Given the description of an element on the screen output the (x, y) to click on. 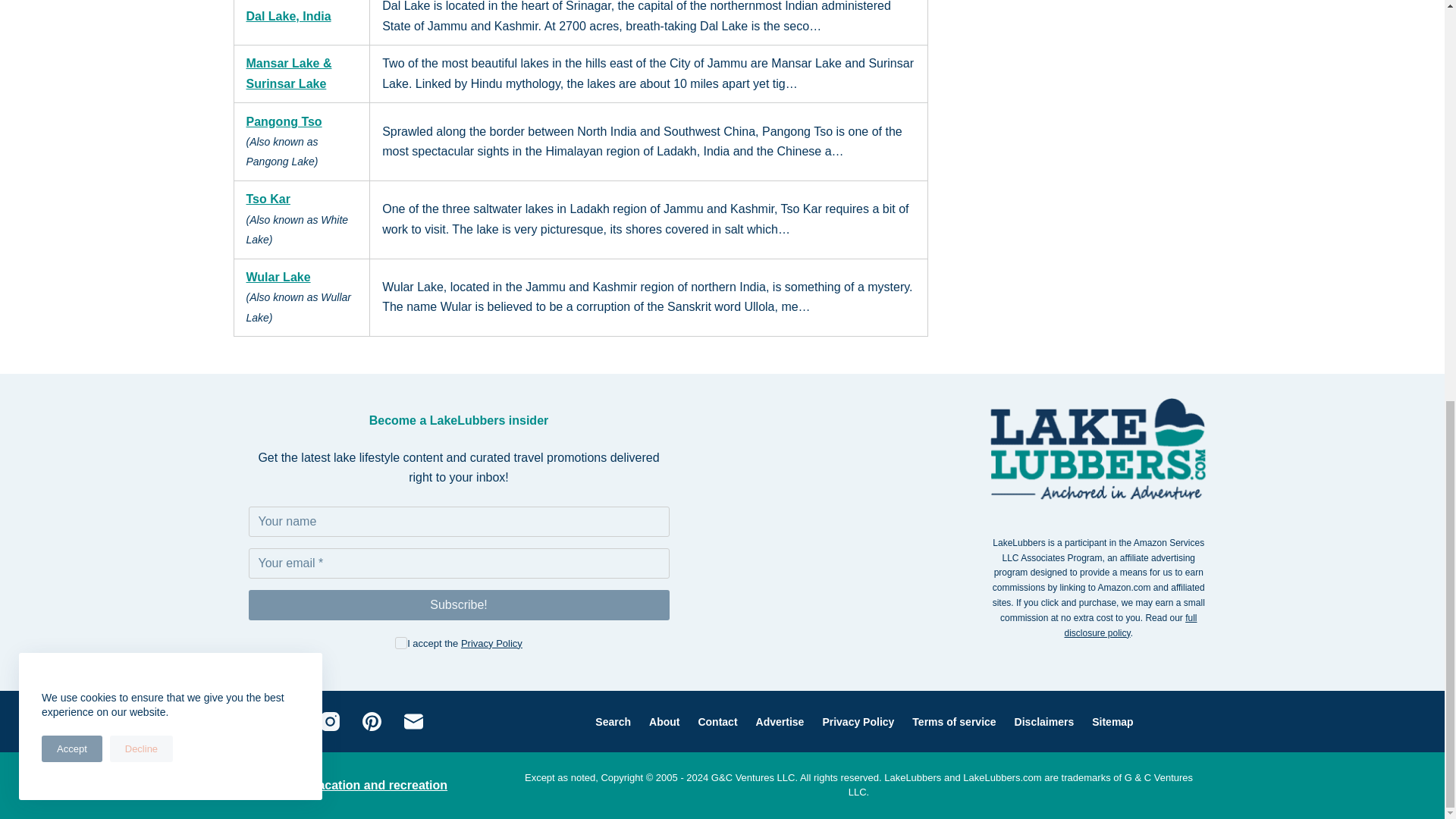
Email (458, 562)
Name (458, 521)
on (400, 643)
